Given the description of an element on the screen output the (x, y) to click on. 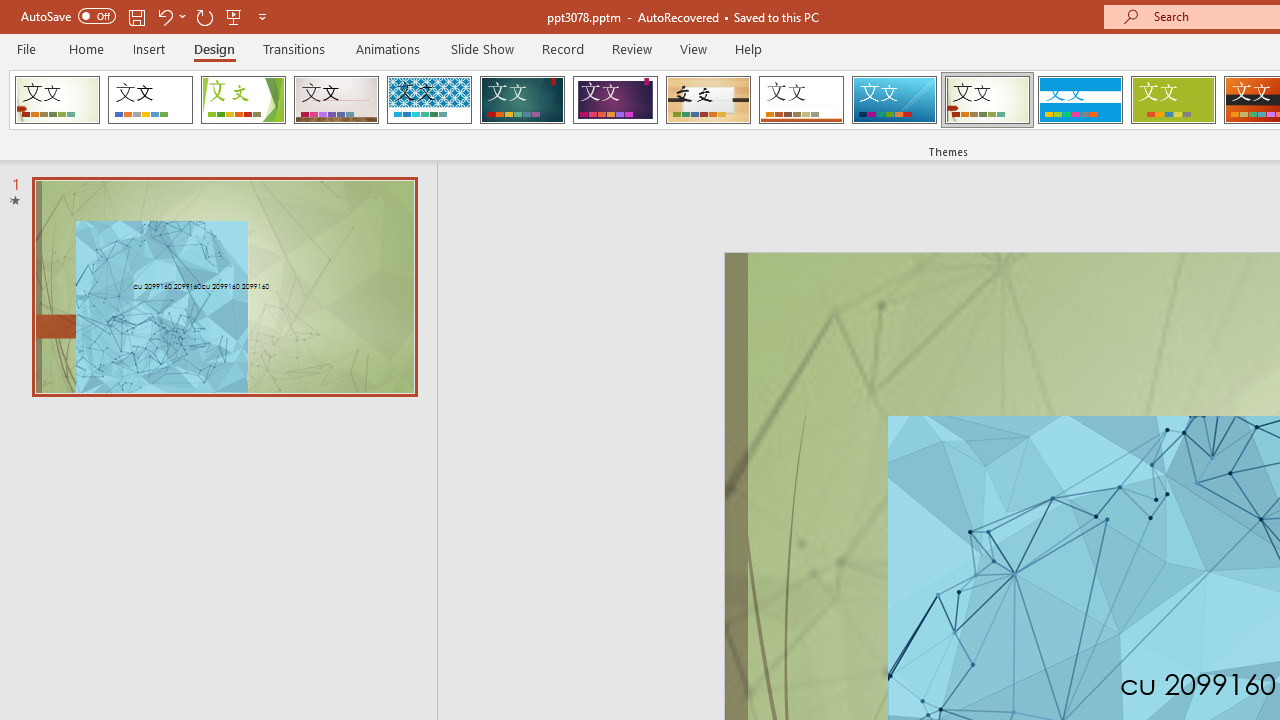
Wisp Loading Preview... (987, 100)
Facet (243, 100)
Basis Loading Preview... (1172, 100)
Slice Loading Preview... (893, 100)
Ion Loading Preview... (522, 100)
